Given the description of an element on the screen output the (x, y) to click on. 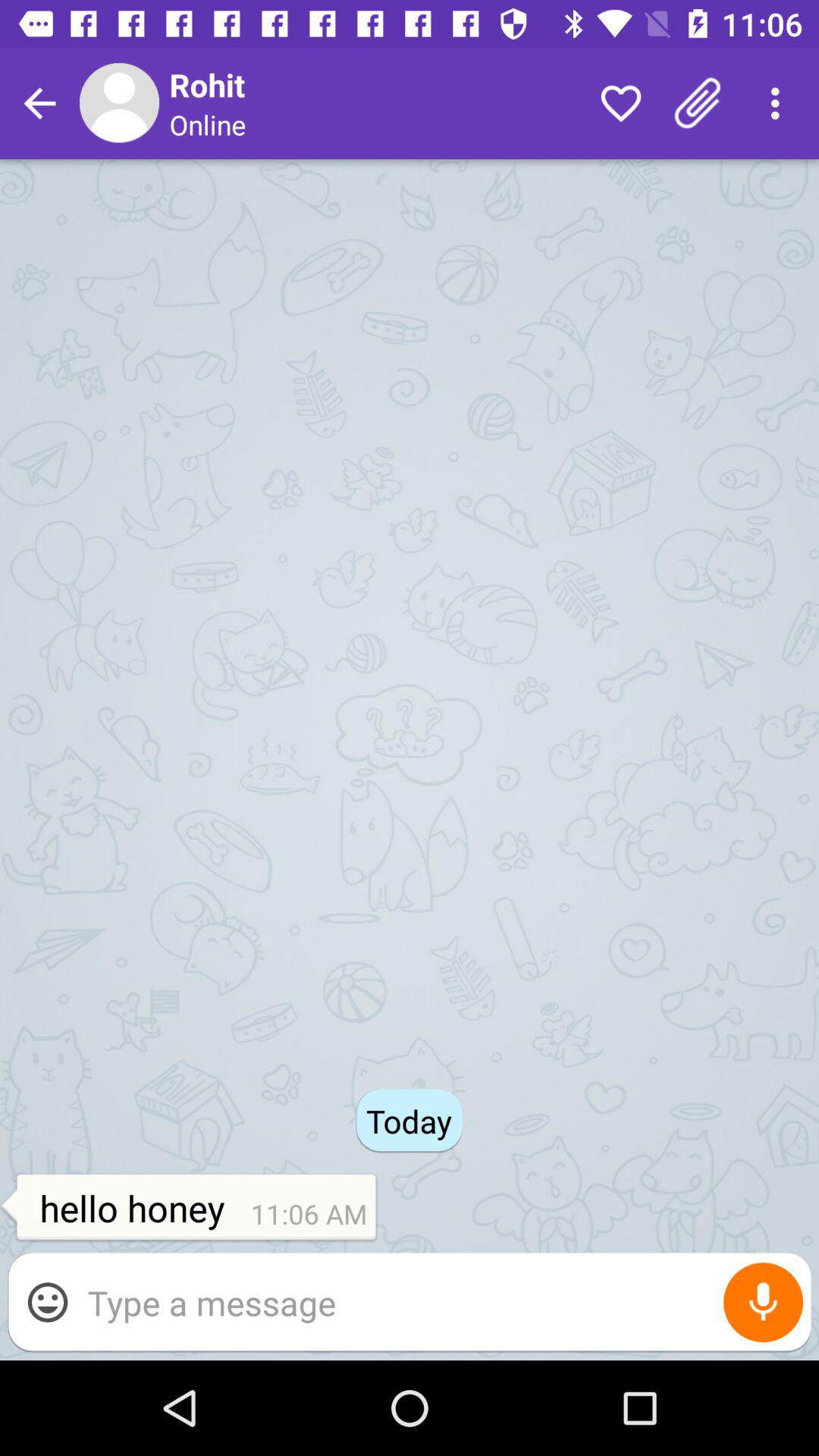
open voice recognition (763, 1302)
